Given the description of an element on the screen output the (x, y) to click on. 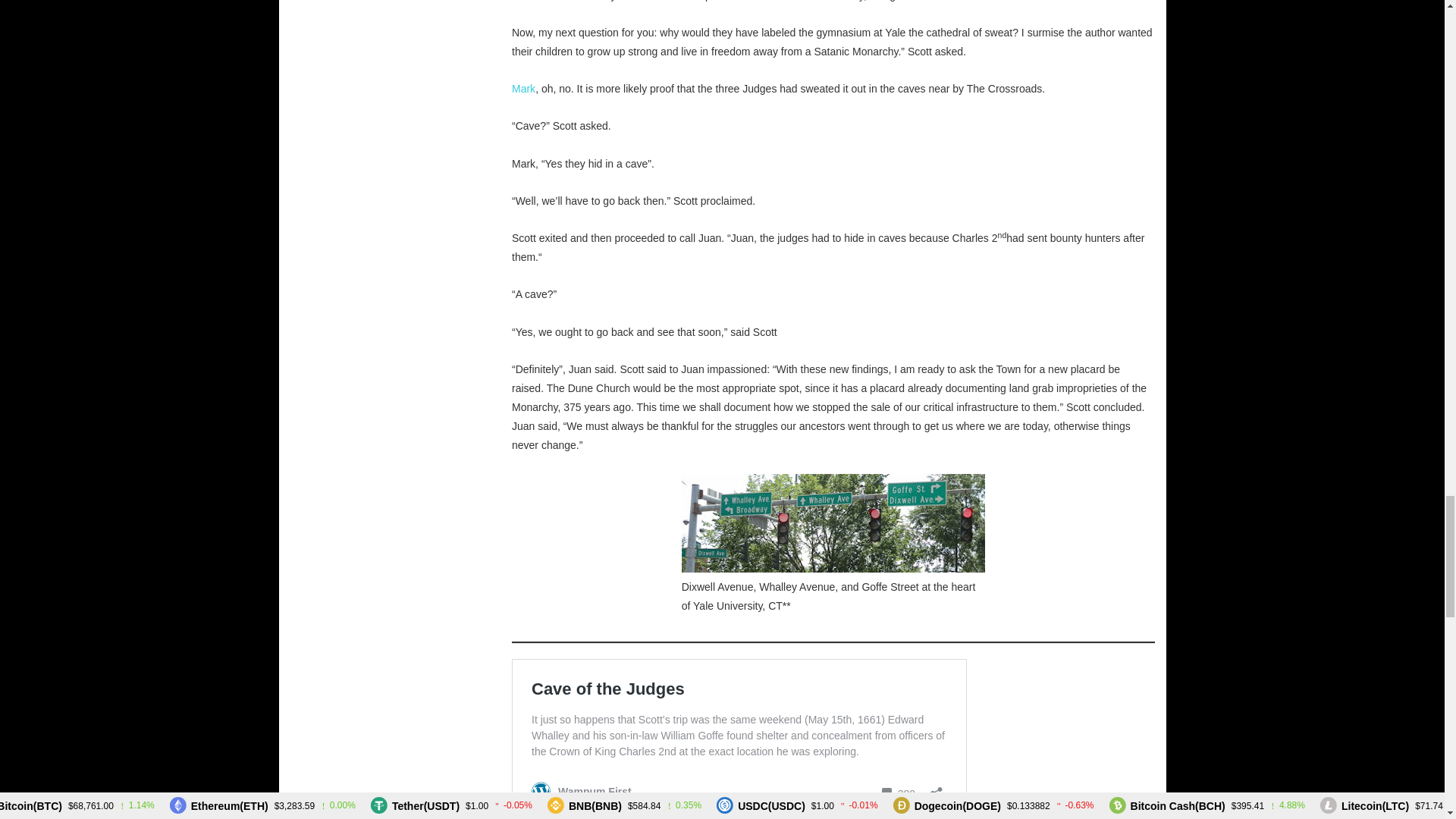
Mark (523, 88)
